Given the description of an element on the screen output the (x, y) to click on. 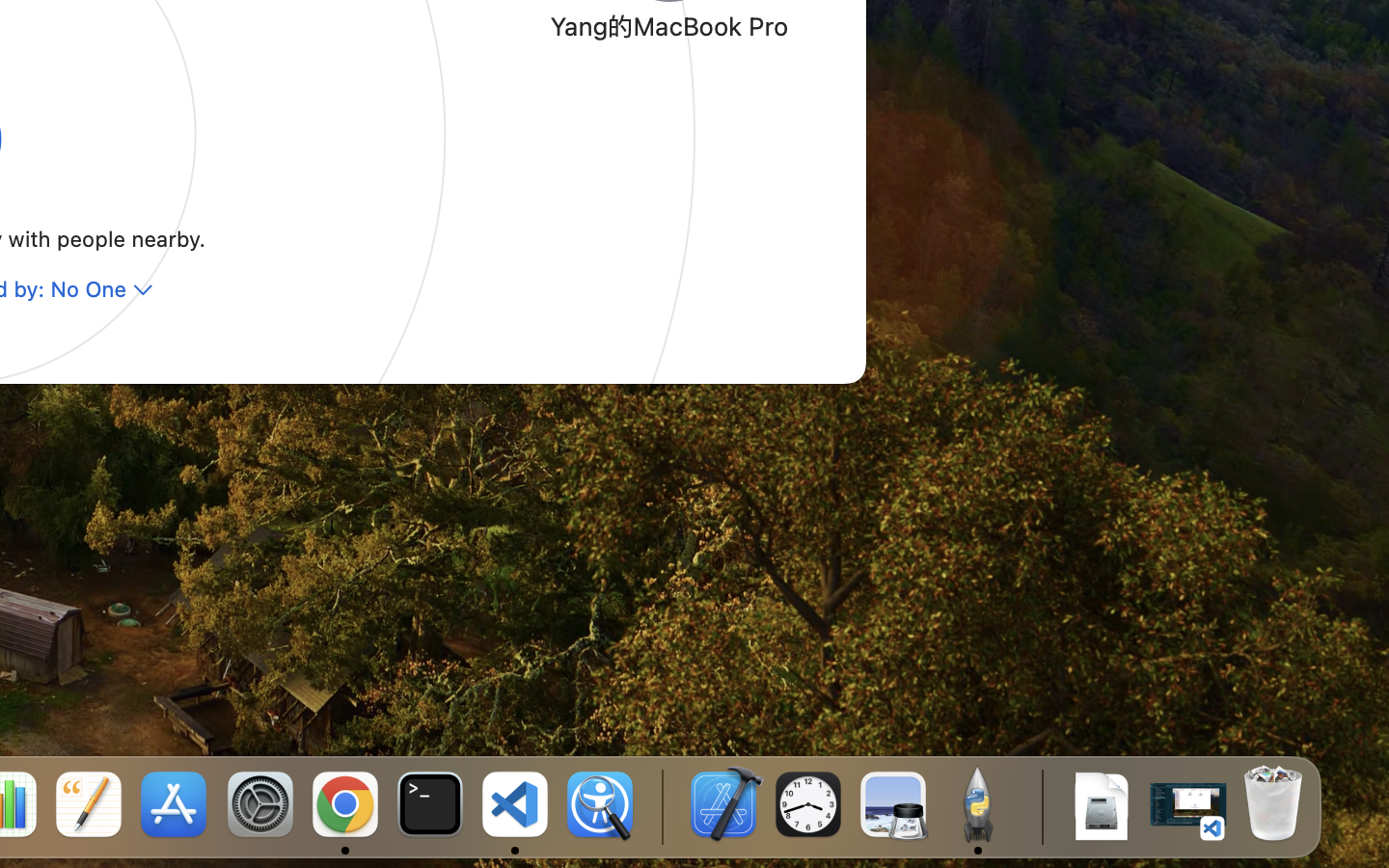
Yang的MacBook Pro Element type: AXStaticText (669, 24)
0.4285714328289032 Element type: AXDockItem (660, 805)
